Given the description of an element on the screen output the (x, y) to click on. 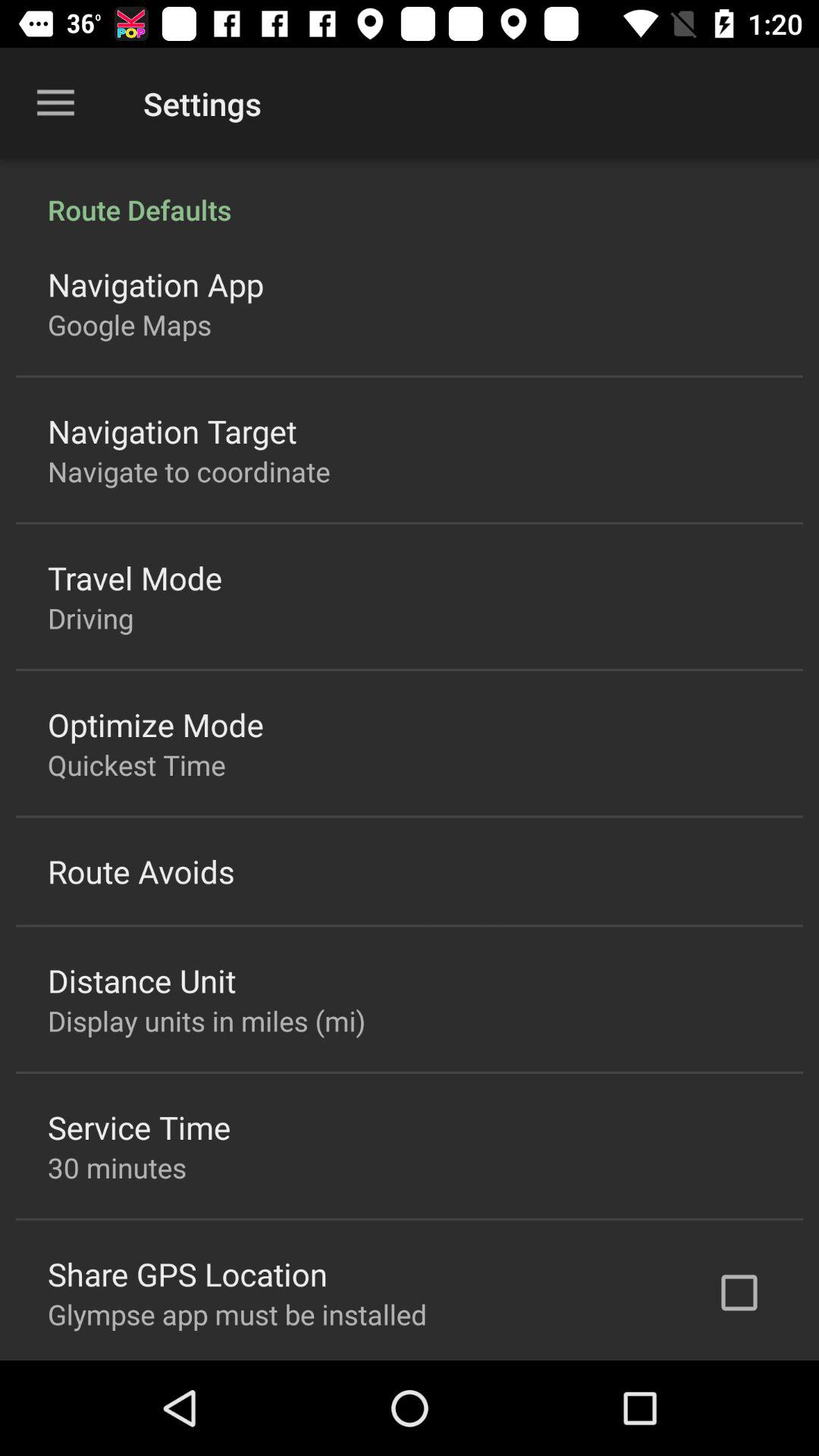
select glympse app must (237, 1314)
